Given the description of an element on the screen output the (x, y) to click on. 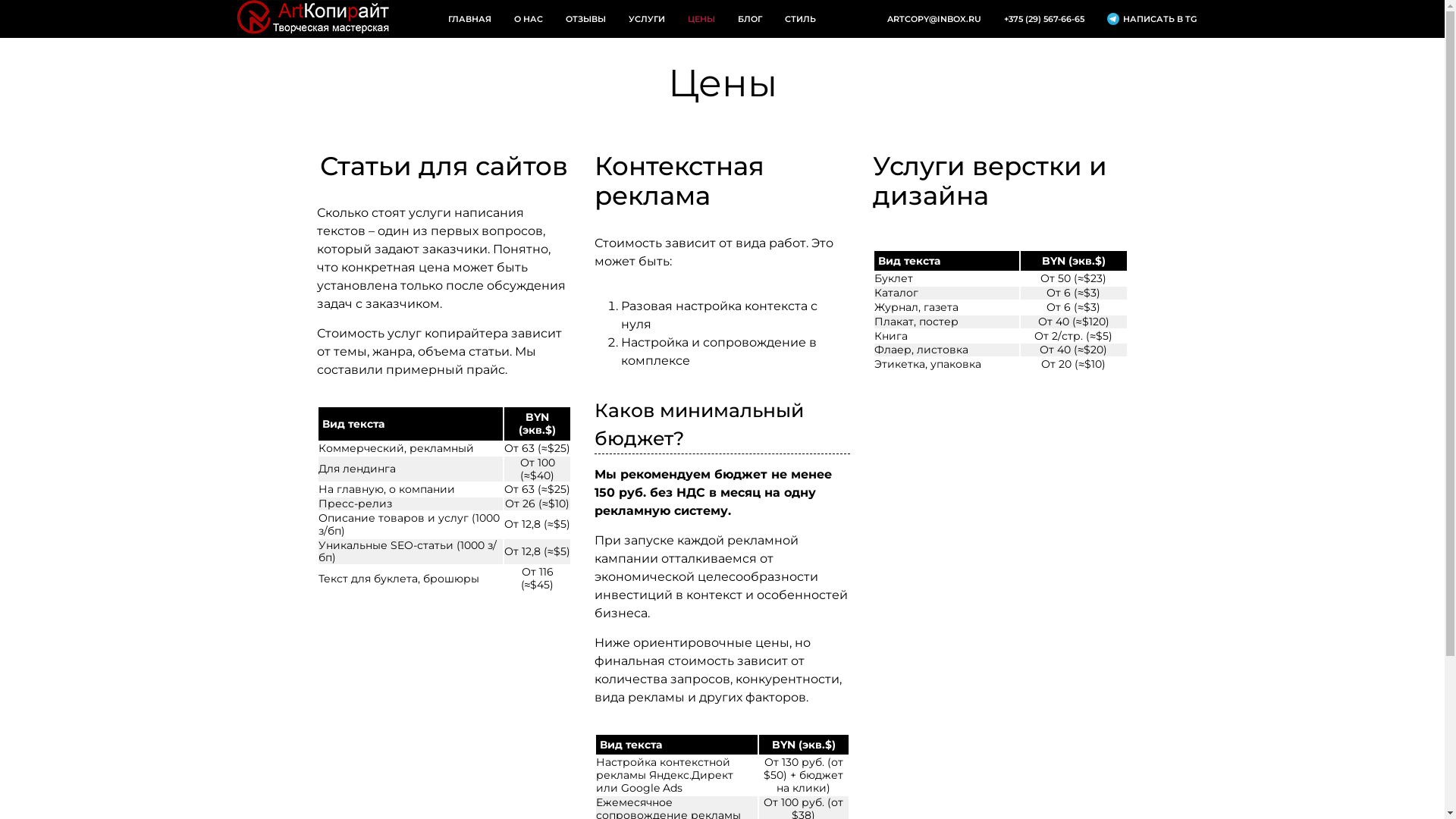
+375 (29) 567-66-65 Element type: text (1043, 18)
ARTCOPY@INBOX.RU Element type: text (933, 18)
